Given the description of an element on the screen output the (x, y) to click on. 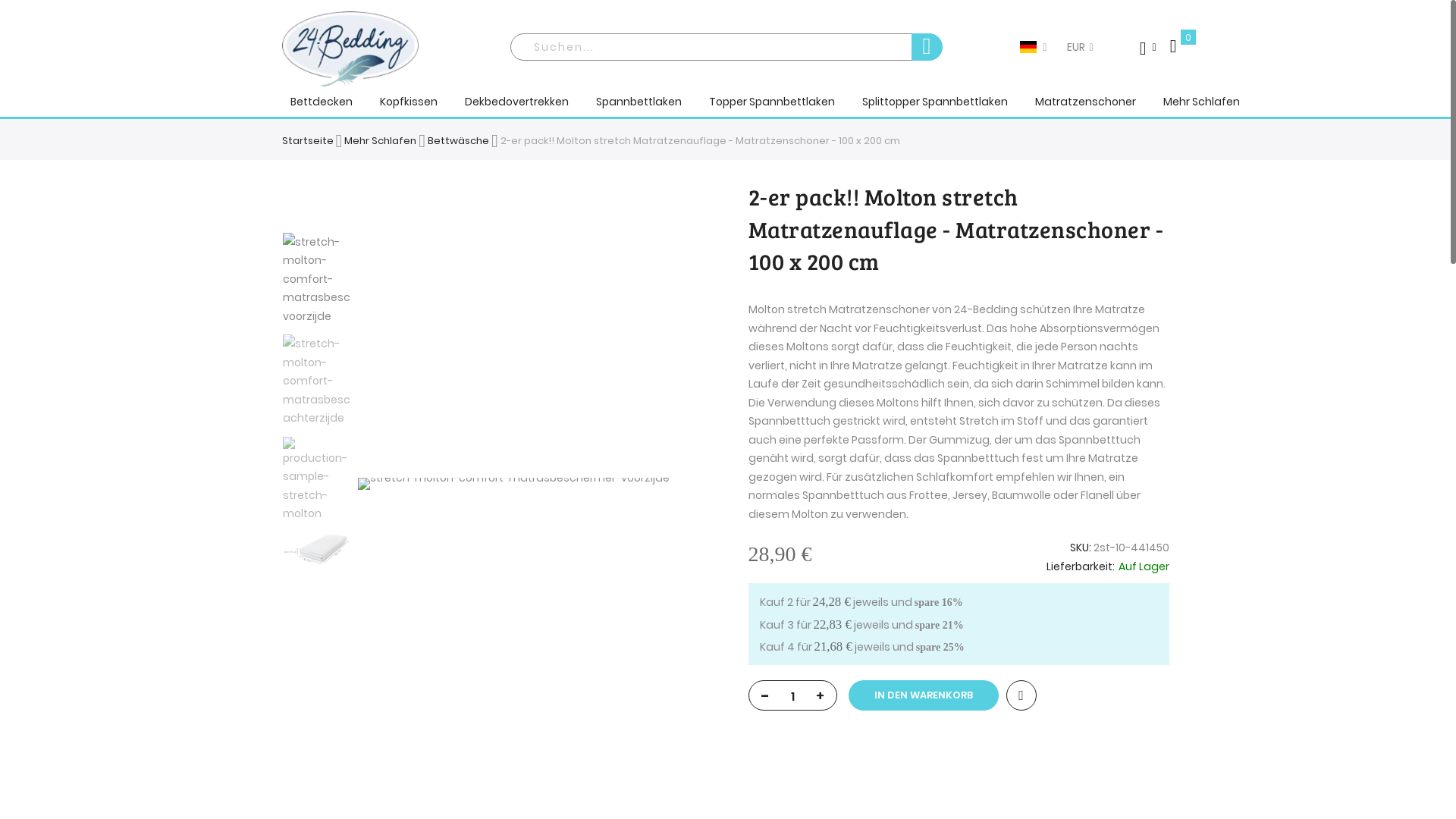
Suche Element type: text (926, 46)
Bettdecken Element type: text (320, 101)
Dekbedovertrekken Element type: text (515, 101)
Mein Warenkorb
0 Element type: text (1173, 46)
+ Element type: text (819, 692)
Mehr Schlafen Element type: text (380, 140)
IN DEN WARENKORB Element type: text (922, 695)
Topper Spannbettlaken Element type: text (770, 101)
Splittopper Spannbettlaken Element type: text (933, 101)
- Element type: text (765, 693)
Spannbettlaken Element type: text (638, 101)
Matratzenschoner Element type: text (1084, 101)
Kopfkissen Element type: text (407, 101)
Mehr Schlafen Element type: text (1201, 101)
Startseite Element type: text (307, 140)
Menge Element type: hover (792, 695)
